Given the description of an element on the screen output the (x, y) to click on. 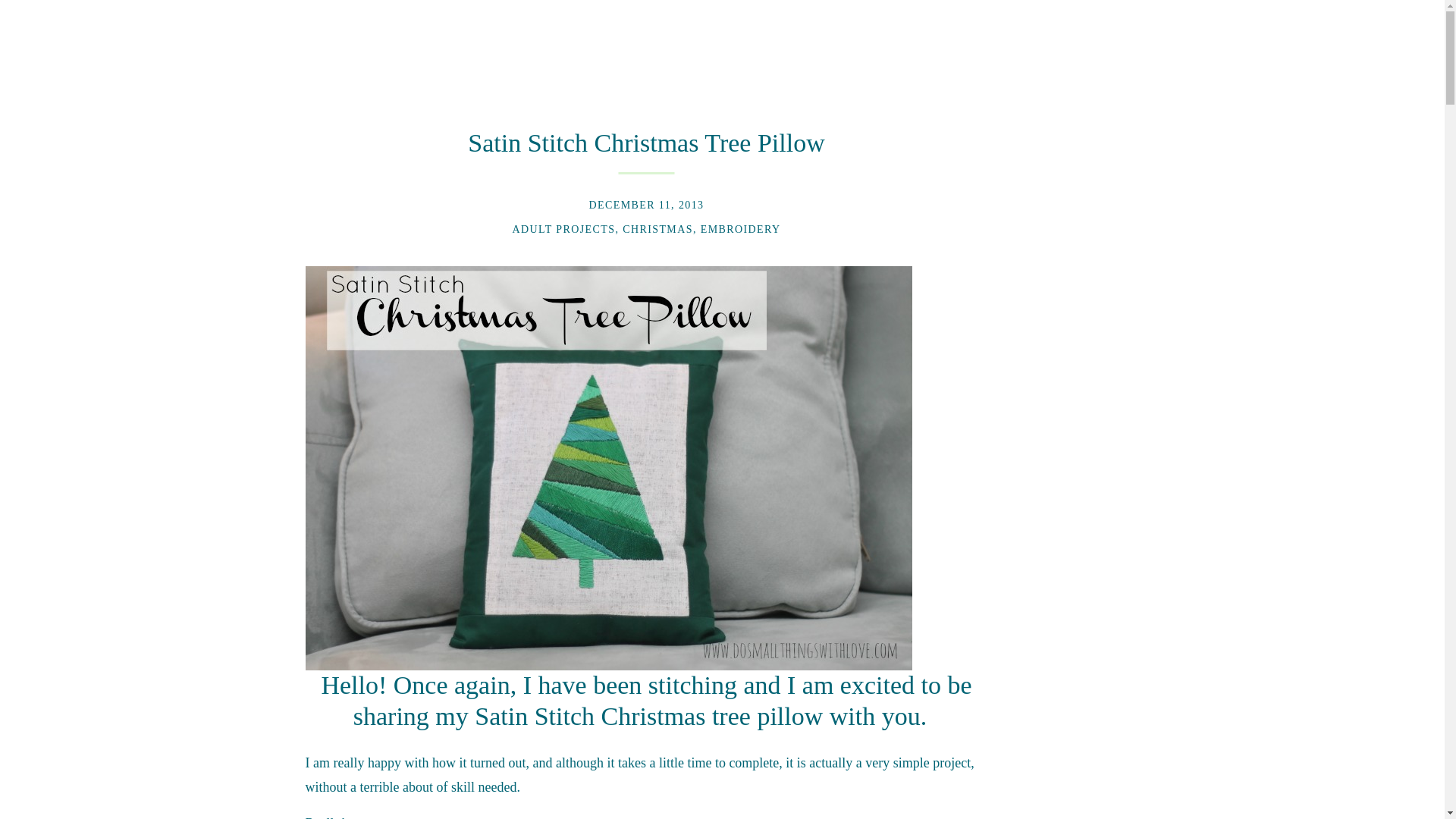
ADULT PROJECTS (563, 229)
EMBROIDERY (740, 229)
CHRISTMAS (658, 229)
